Given the description of an element on the screen output the (x, y) to click on. 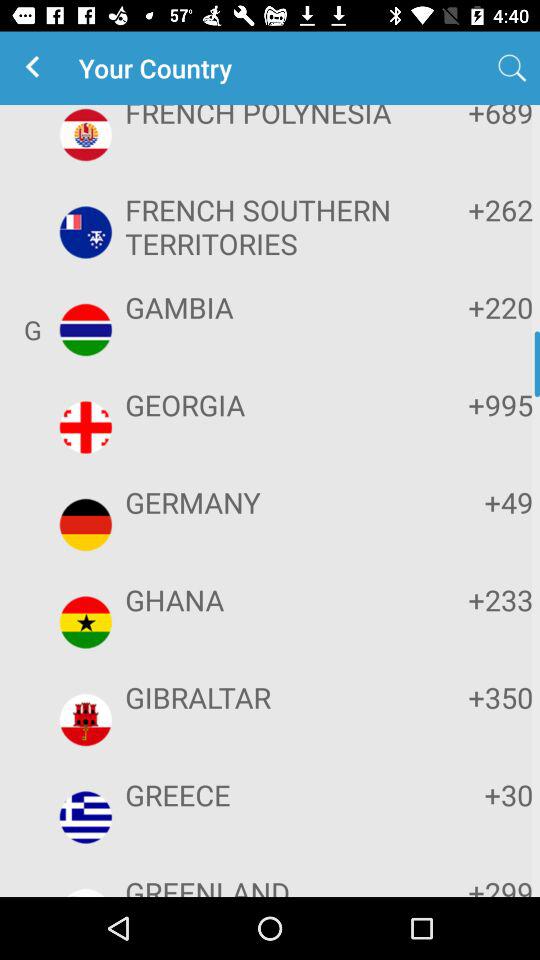
swipe to +262 (471, 209)
